Given the description of an element on the screen output the (x, y) to click on. 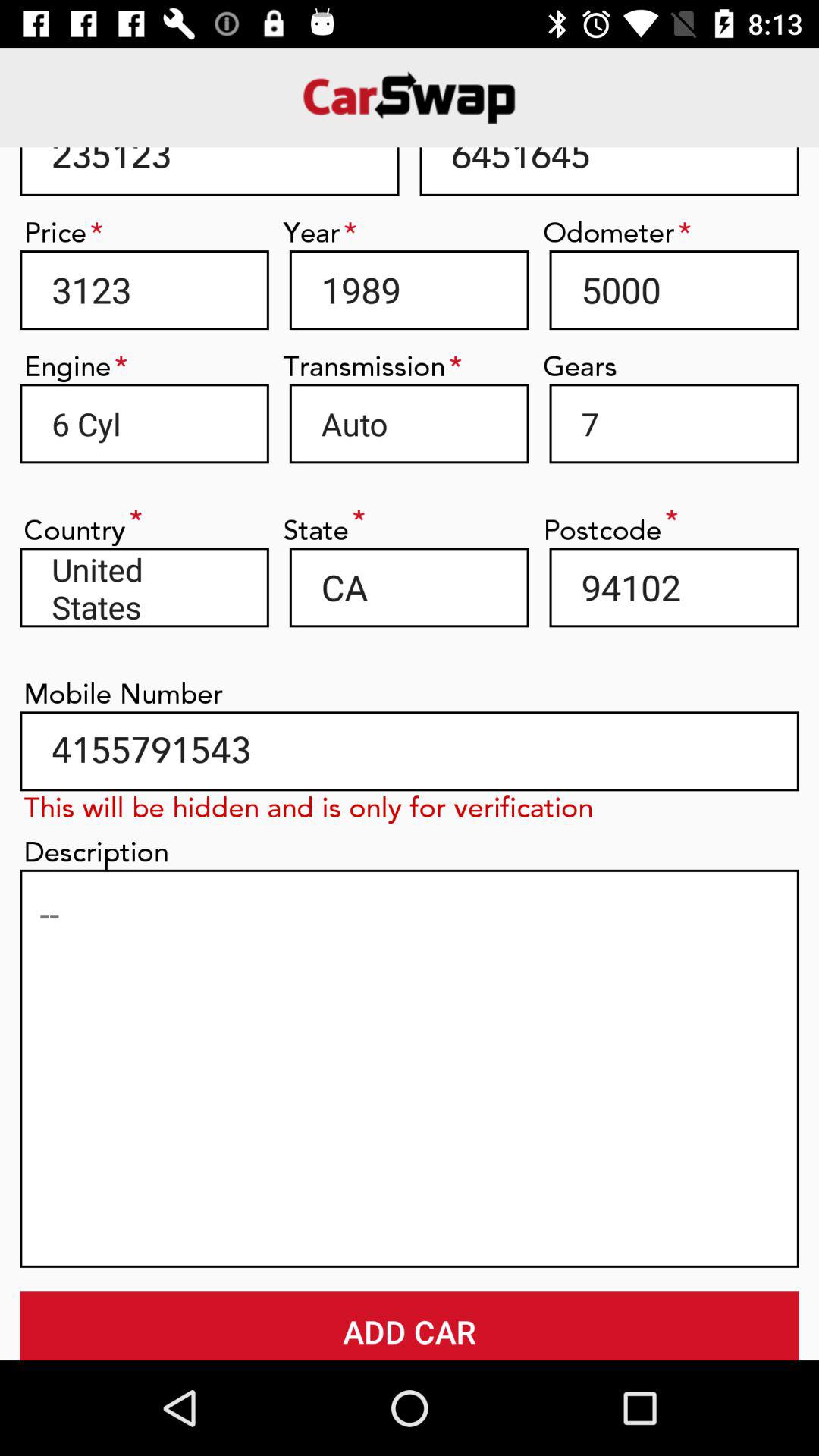
scroll to the 94102 item (674, 587)
